Given the description of an element on the screen output the (x, y) to click on. 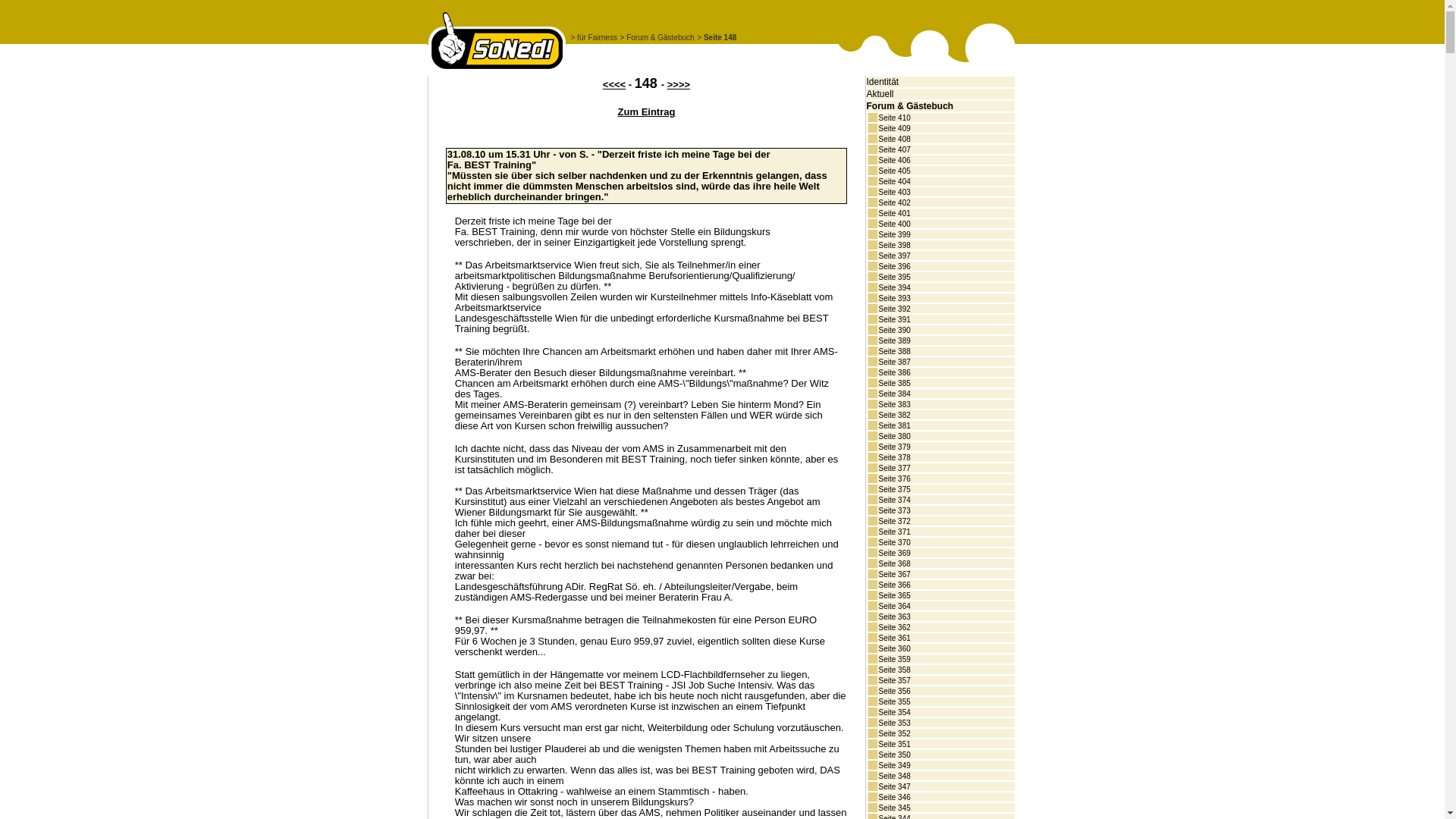
Seite 357 Element type: text (893, 680)
Seite 395 Element type: text (893, 277)
Seite 352 Element type: text (893, 733)
Seite 377 Element type: text (893, 468)
Seite 399 Element type: text (893, 234)
Seite 374 Element type: text (893, 499)
Seite 348 Element type: text (893, 775)
Seite 407 Element type: text (893, 149)
Seite 346 Element type: text (893, 797)
Seite 392 Element type: text (893, 308)
Seite 359 Element type: text (893, 659)
Seite 390 Element type: text (893, 330)
Seite 376 Element type: text (893, 478)
Seite 372 Element type: text (893, 521)
Seite 401 Element type: text (893, 213)
> Seite 148 Element type: text (716, 37)
Seite 389 Element type: text (893, 340)
Seite 394 Element type: text (893, 287)
Seite 385 Element type: text (893, 383)
Seite 406 Element type: text (893, 160)
Seite 353 Element type: text (893, 722)
Seite 410 Element type: text (893, 117)
Seite 367 Element type: text (893, 574)
Seite 363 Element type: text (893, 616)
Seite 365 Element type: text (893, 595)
Aktuell Element type: text (879, 93)
Seite 400 Element type: text (893, 223)
Seite 387 Element type: text (893, 361)
Seite 371 Element type: text (893, 531)
Seite 383 Element type: text (893, 404)
Seite 378 Element type: text (893, 457)
Seite 391 Element type: text (893, 319)
Seite 388 Element type: text (893, 351)
Seite 373 Element type: text (893, 510)
Seite 393 Element type: text (893, 298)
Seite 379 Element type: text (893, 446)
Seite 382 Element type: text (893, 415)
>>>> Element type: text (678, 84)
Seite 398 Element type: text (893, 245)
<<<< Element type: text (613, 84)
Seite 362 Element type: text (893, 627)
Seite 384 Element type: text (893, 393)
Seite 404 Element type: text (893, 181)
Seite 408 Element type: text (893, 138)
Seite 403 Element type: text (893, 192)
Seite 345 Element type: text (893, 807)
Seite 364 Element type: text (893, 606)
Seite 370 Element type: text (893, 542)
Seite 397 Element type: text (893, 255)
Seite 347 Element type: text (893, 786)
Seite 396 Element type: text (893, 266)
Seite 358 Element type: text (893, 669)
Seite 361 Element type: text (893, 637)
Seite 351 Element type: text (893, 744)
Seite 349 Element type: text (893, 765)
Seite 355 Element type: text (893, 701)
Seite 380 Element type: text (893, 436)
Seite 350 Element type: text (893, 754)
Seite 360 Element type: text (893, 648)
Seite 368 Element type: text (893, 563)
Seite 369 Element type: text (893, 553)
Seite 405 Element type: text (893, 170)
Seite 386 Element type: text (893, 372)
Seite 381 Element type: text (893, 425)
Seite 402 Element type: text (893, 202)
Seite 366 Element type: text (893, 584)
Seite 375 Element type: text (893, 489)
Zum Eintrag Element type: text (646, 111)
Seite 409 Element type: text (893, 128)
Seite 354 Element type: text (893, 712)
Seite 356 Element type: text (893, 691)
